Given the description of an element on the screen output the (x, y) to click on. 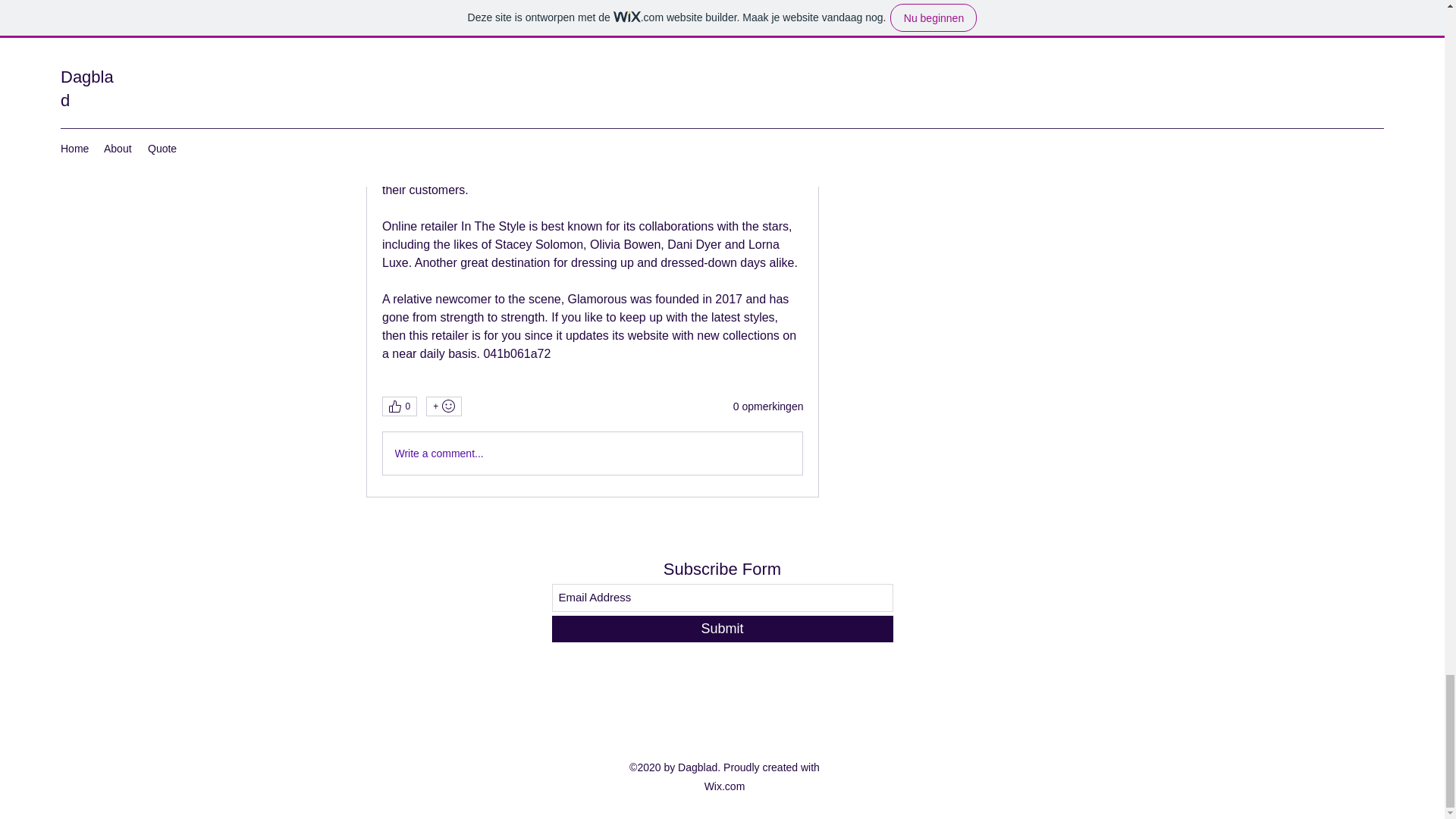
Submit (722, 628)
0 opmerkingen (768, 406)
Write a comment... (591, 453)
